Given the description of an element on the screen output the (x, y) to click on. 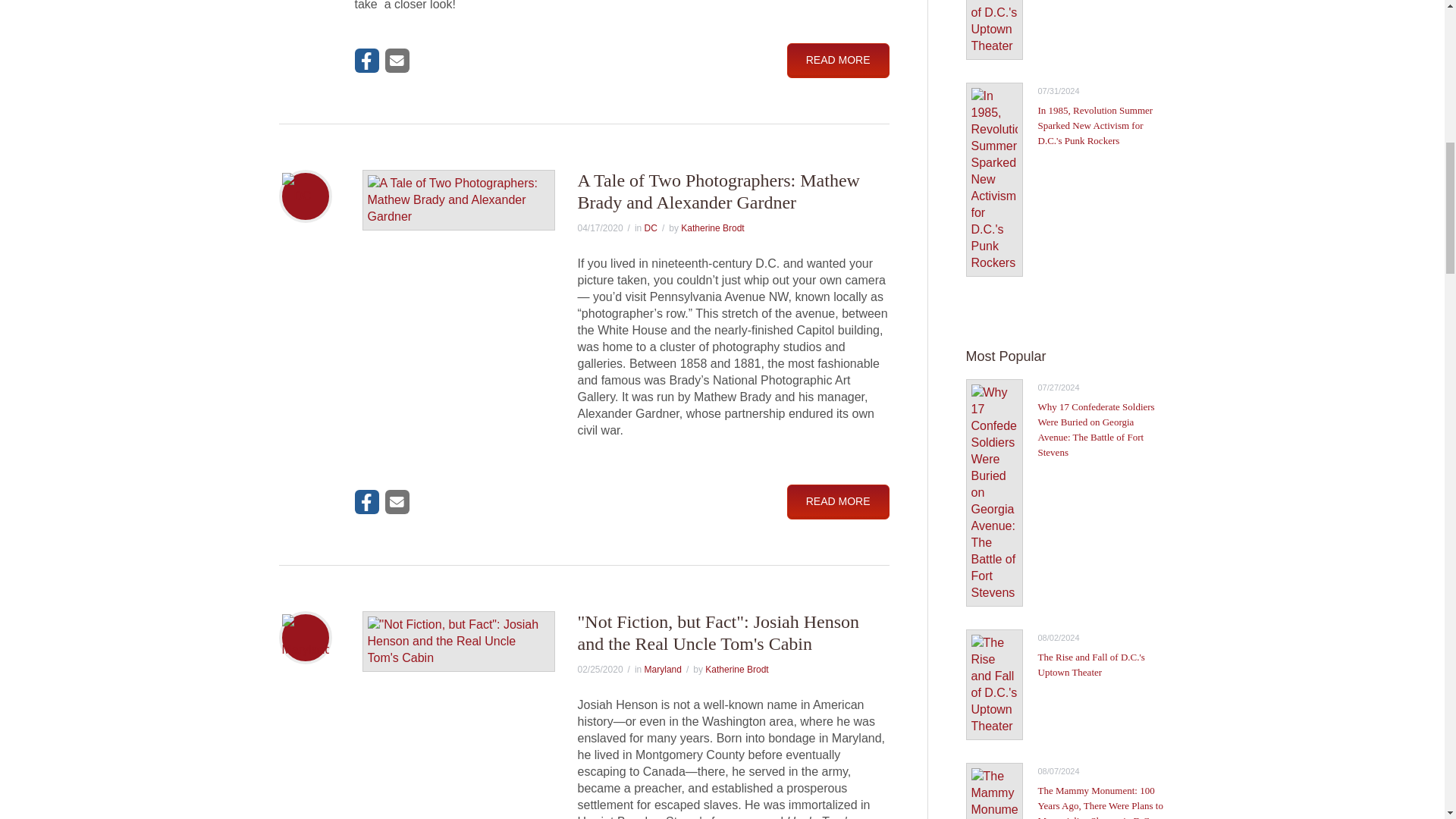
Share by Email (397, 501)
View user profile. (712, 227)
Share by Facebook (366, 60)
READ MORE (838, 501)
Share by Email (397, 60)
View user profile. (736, 669)
Katherine Brodt (736, 669)
Katherine Brodt (712, 227)
READ MORE (838, 60)
